Given the description of an element on the screen output the (x, y) to click on. 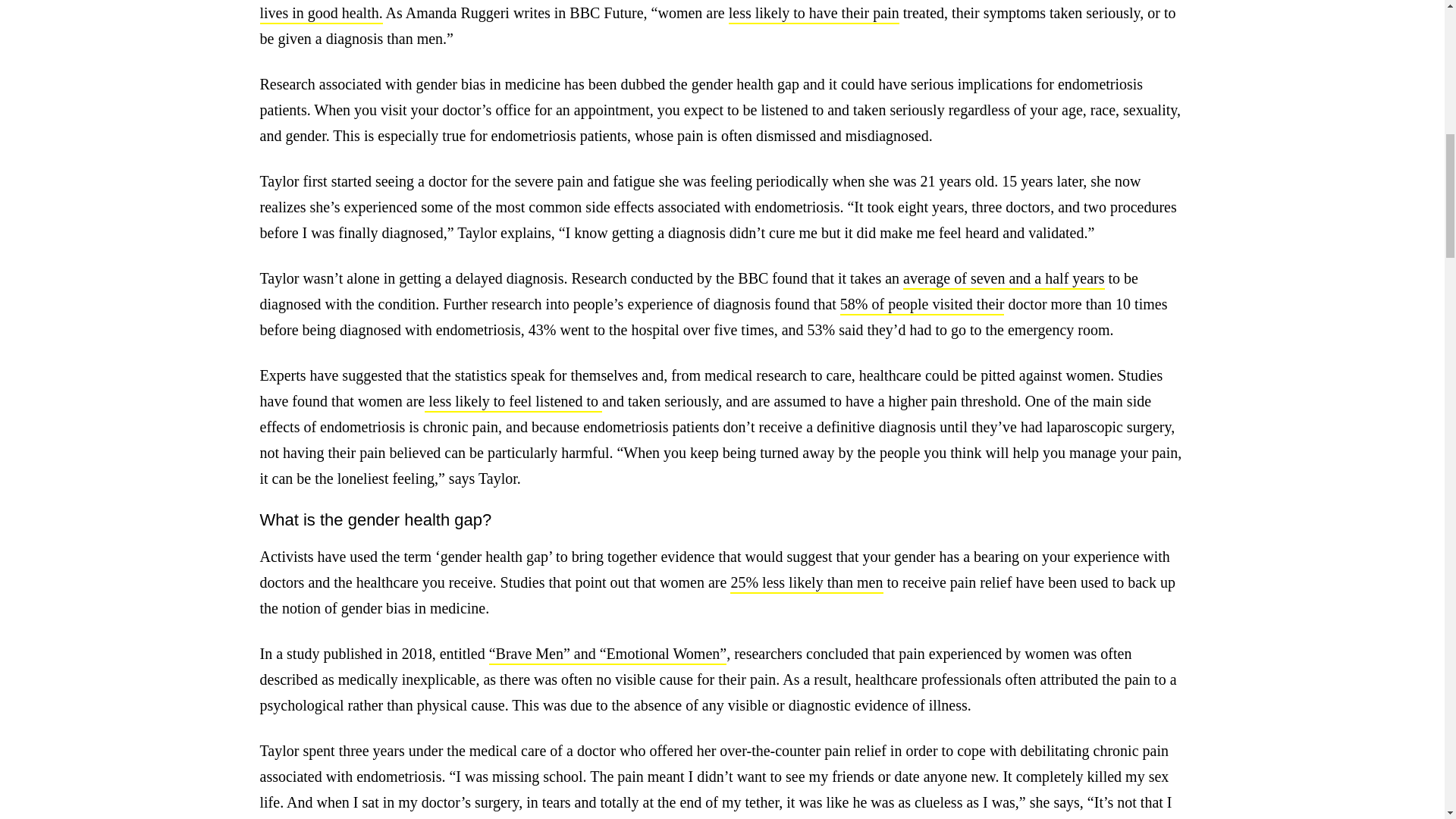
less likely to feel listened to (513, 402)
less of their lives in good health. (721, 12)
less likely to have their pain (814, 14)
average of seven and a half years (1002, 279)
